Given the description of an element on the screen output the (x, y) to click on. 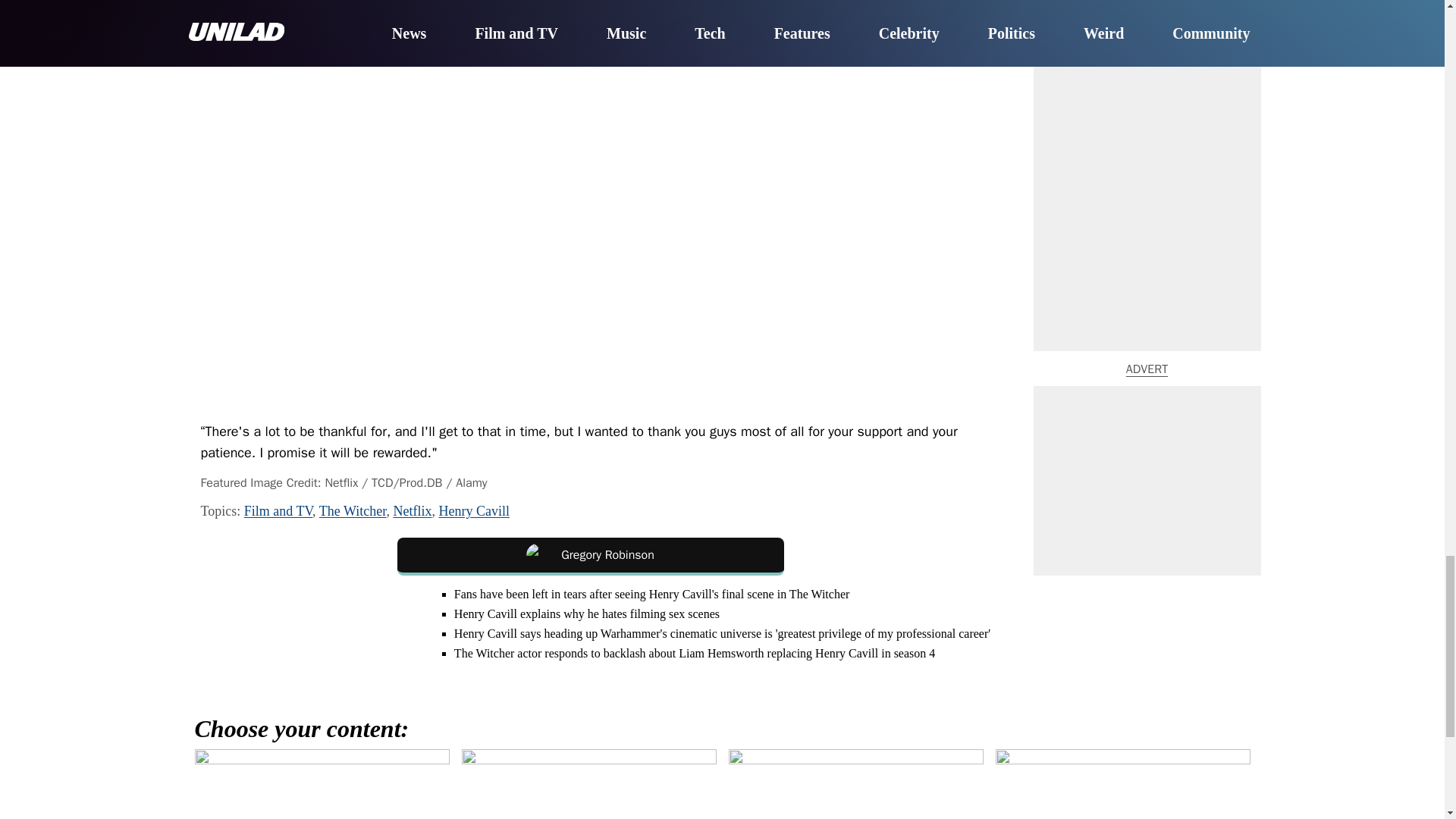
Henry Cavill (473, 510)
The Witcher (352, 510)
Film and TV (278, 510)
Henry Cavill explains why he hates filming sex scenes (586, 613)
Netflix (411, 510)
